Given the description of an element on the screen output the (x, y) to click on. 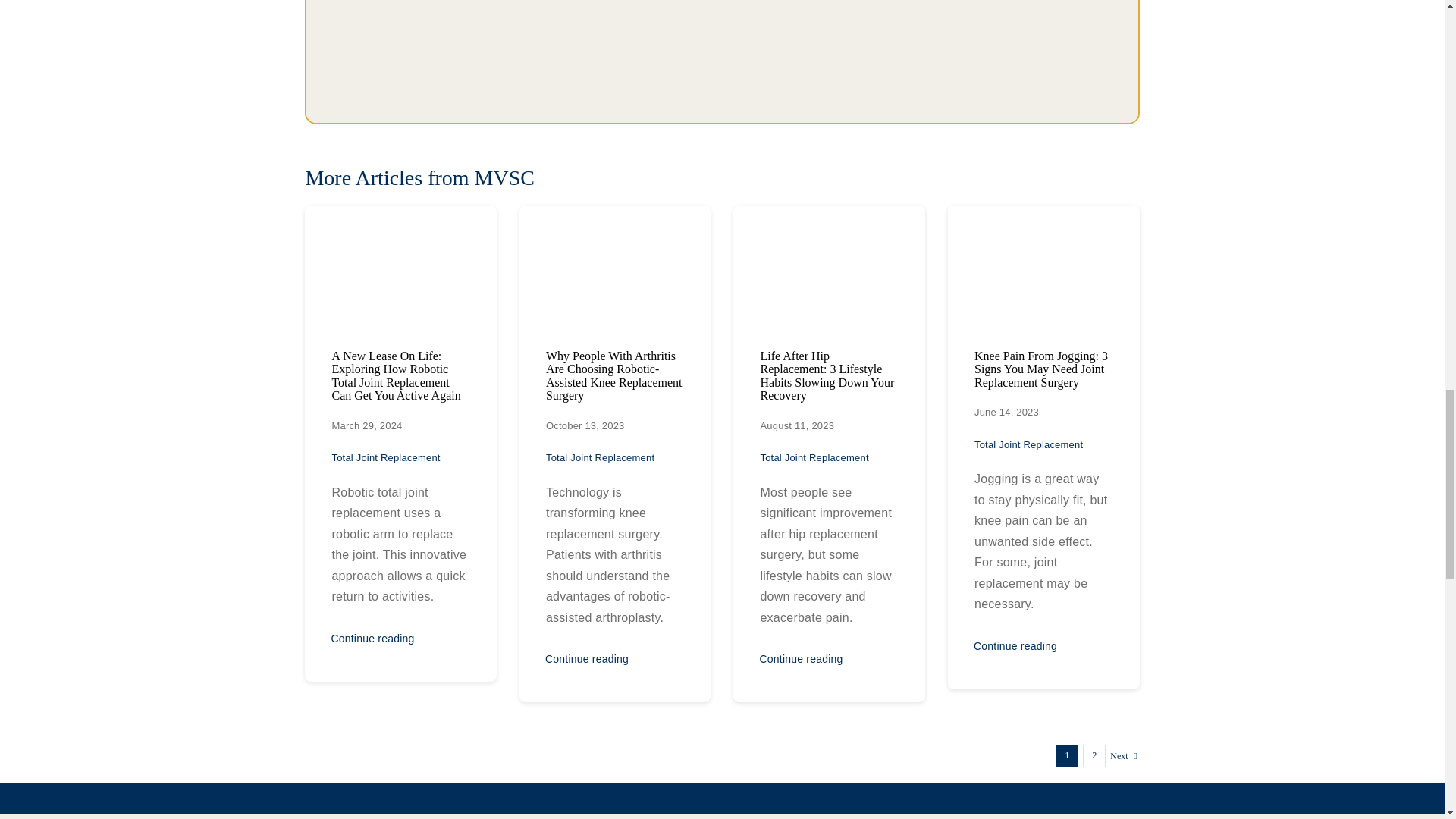
Total Joint Replacement (599, 457)
Continue reading (586, 658)
Total Joint Replacement (1028, 444)
Total Joint Replacement (813, 457)
Total Joint Replacement (813, 457)
Continue reading (371, 638)
Total Joint Replacement (385, 457)
Continue reading (1015, 645)
Total Joint Replacement (599, 457)
Total Joint Replacement (385, 457)
2 (1094, 755)
